Given the description of an element on the screen output the (x, y) to click on. 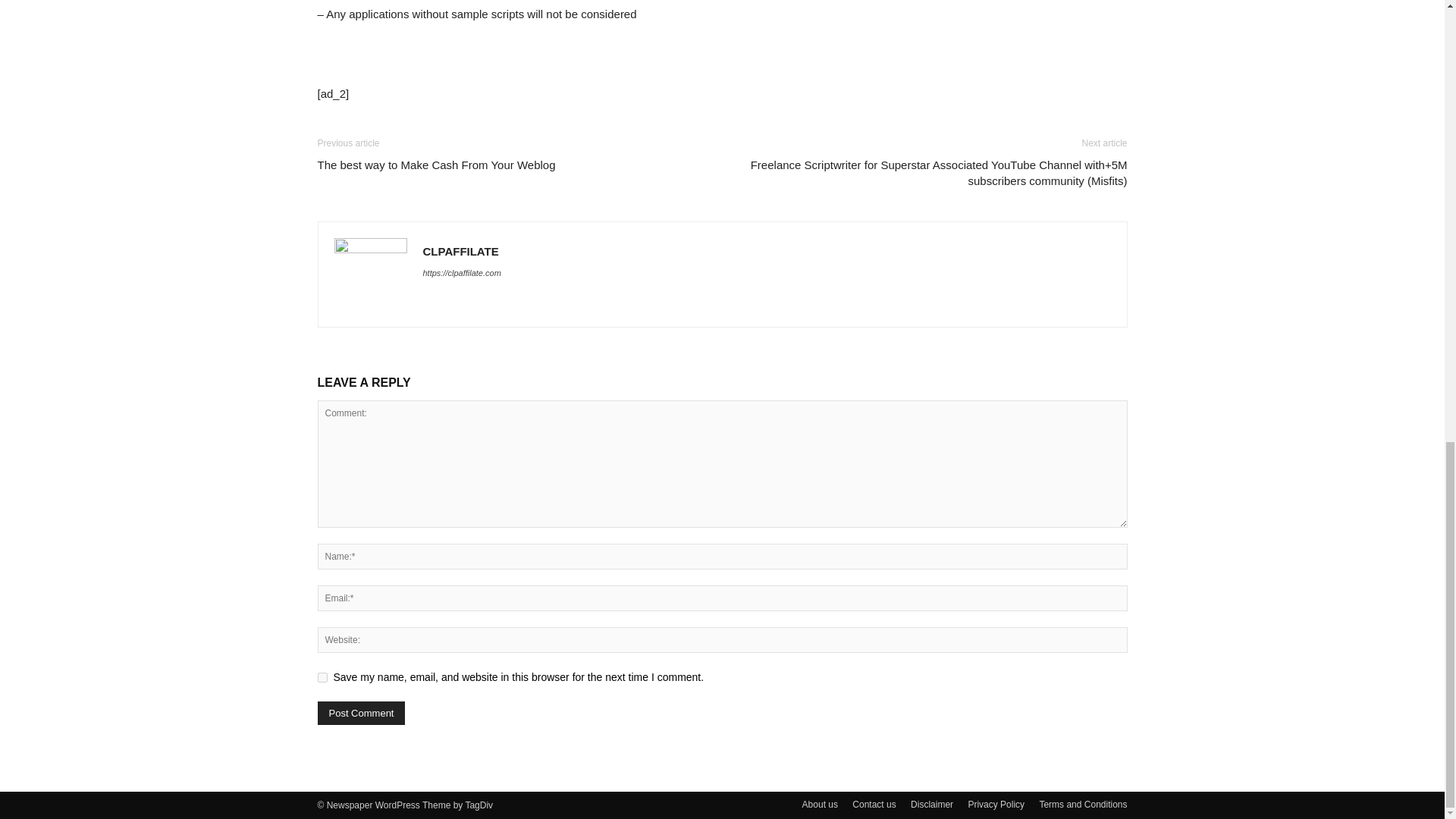
yes (321, 677)
Post Comment (360, 712)
